Given the description of an element on the screen output the (x, y) to click on. 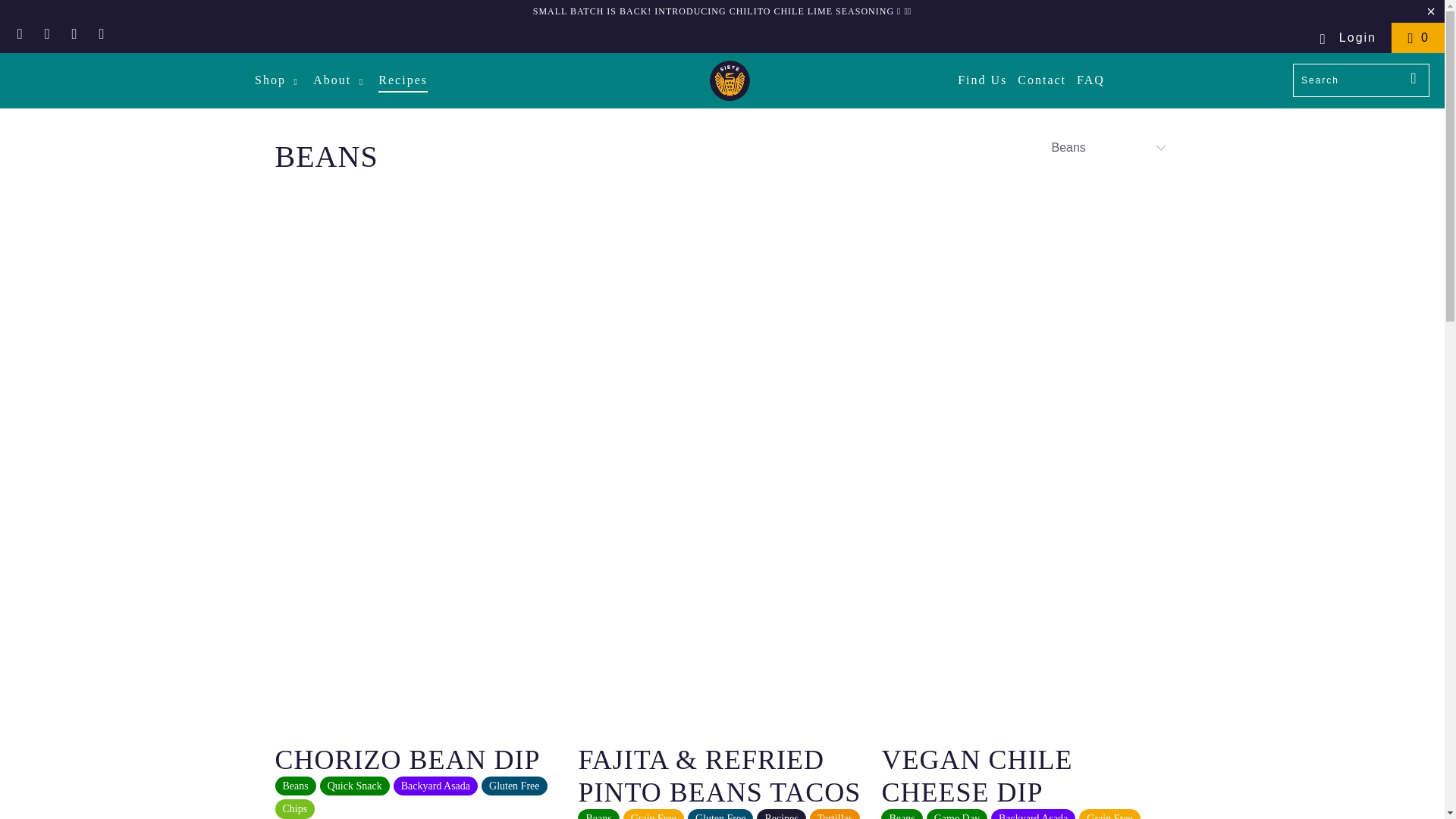
Sietefoods.com on Instagram (73, 31)
Recipes tagged chips (294, 809)
Sietefoods.com (730, 80)
Email Sietefoods.com (101, 31)
Sietefoods.com on Facebook (19, 31)
Recipes tagged Beans (295, 786)
My Account  (1347, 37)
Recipes tagged Backyard Asada (435, 786)
Sietefoods.com on Pinterest (47, 31)
Recipes (326, 156)
